Given the description of an element on the screen output the (x, y) to click on. 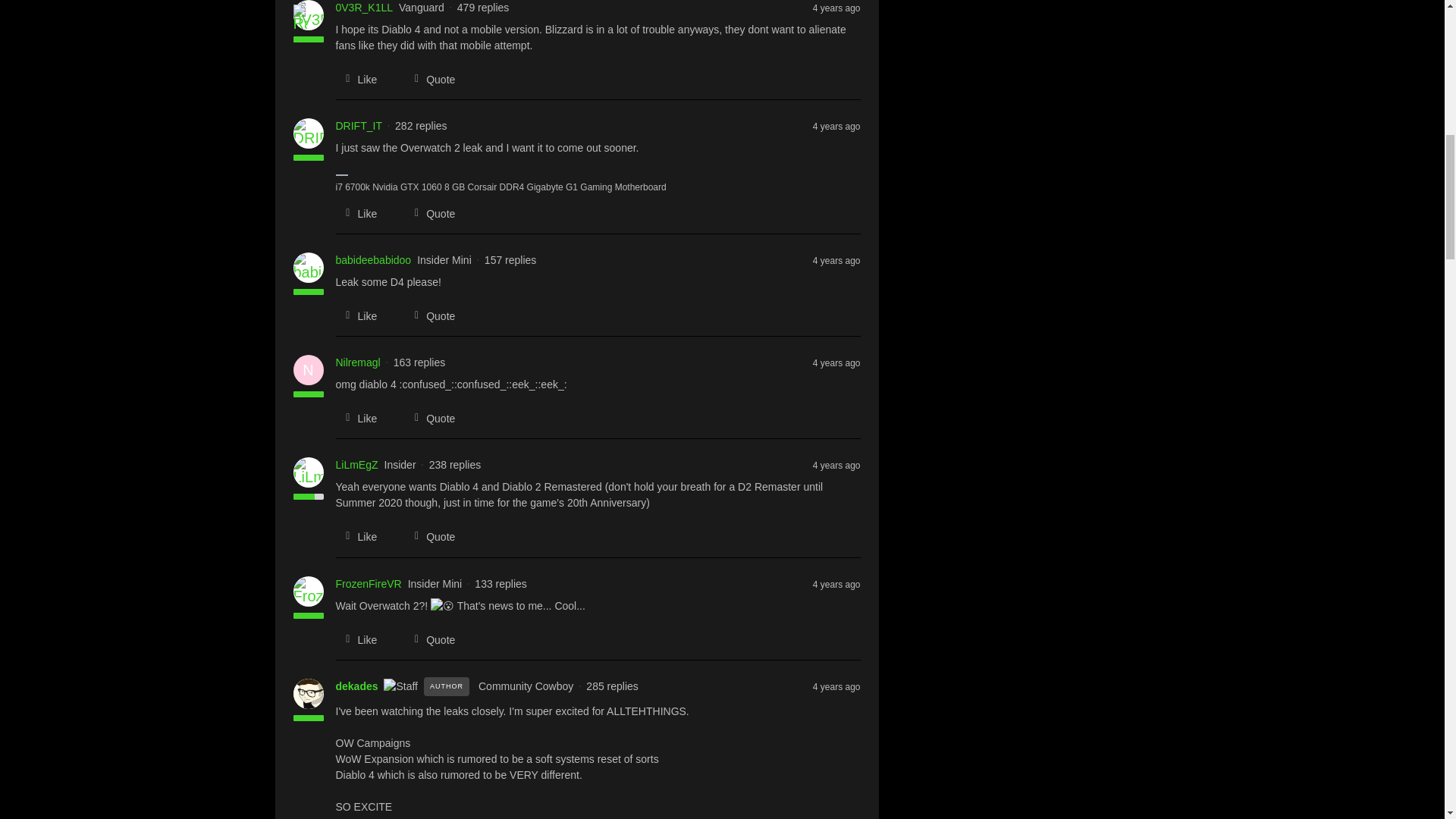
FrozenFireVR (367, 584)
N (307, 369)
Nilremagl (357, 362)
LiLmEgZ (355, 465)
4 years ago (836, 259)
Quote (429, 79)
Quote (429, 315)
Nilremagl (357, 362)
babideebabidoo (372, 260)
4 years ago (836, 125)
:o (442, 606)
dekades (355, 686)
4 years ago (836, 362)
Like (355, 315)
babideebabidoo (372, 260)
